Given the description of an element on the screen output the (x, y) to click on. 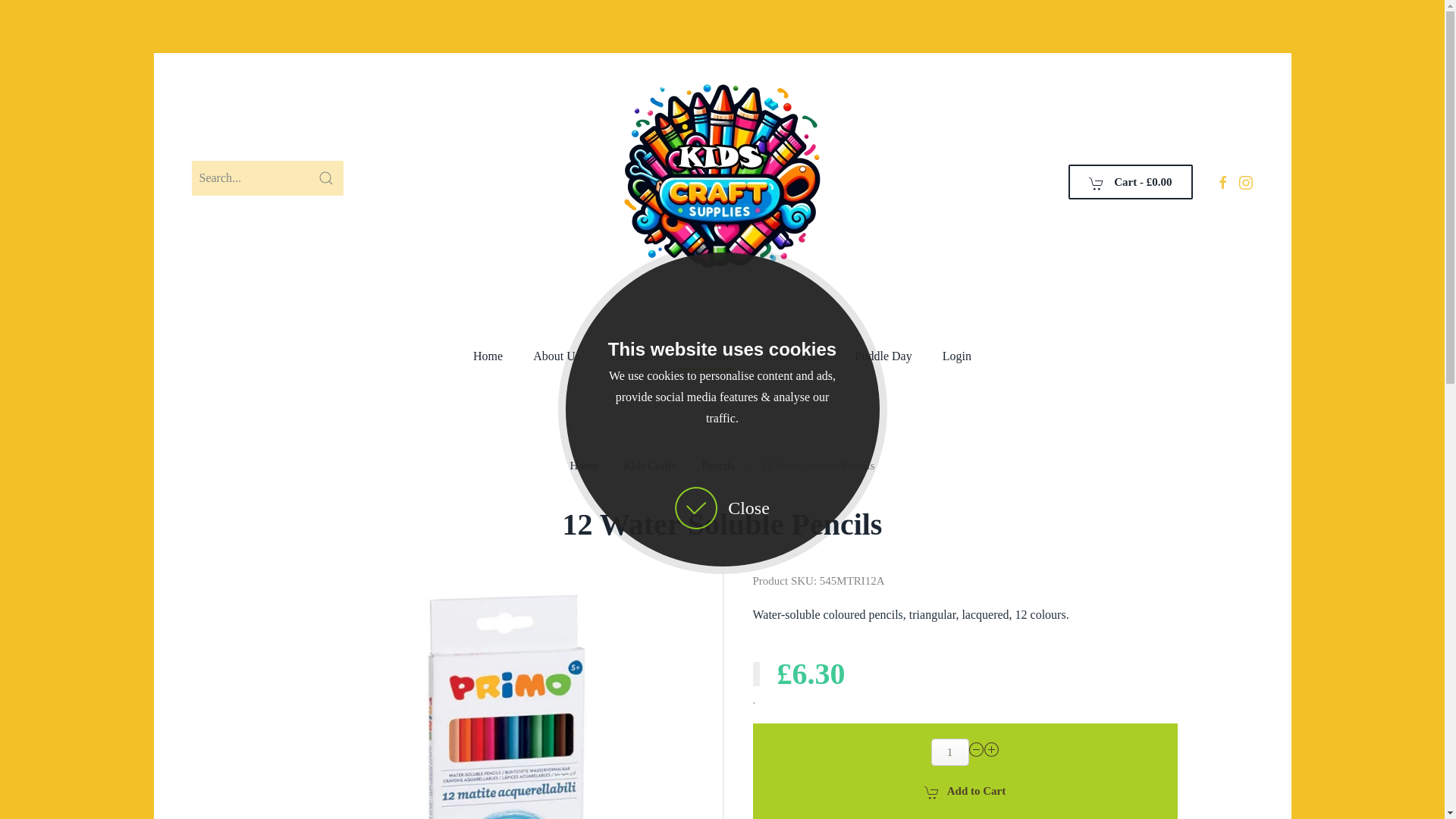
Add to Cart (964, 790)
Close (722, 507)
1 (950, 751)
